Given the description of an element on the screen output the (x, y) to click on. 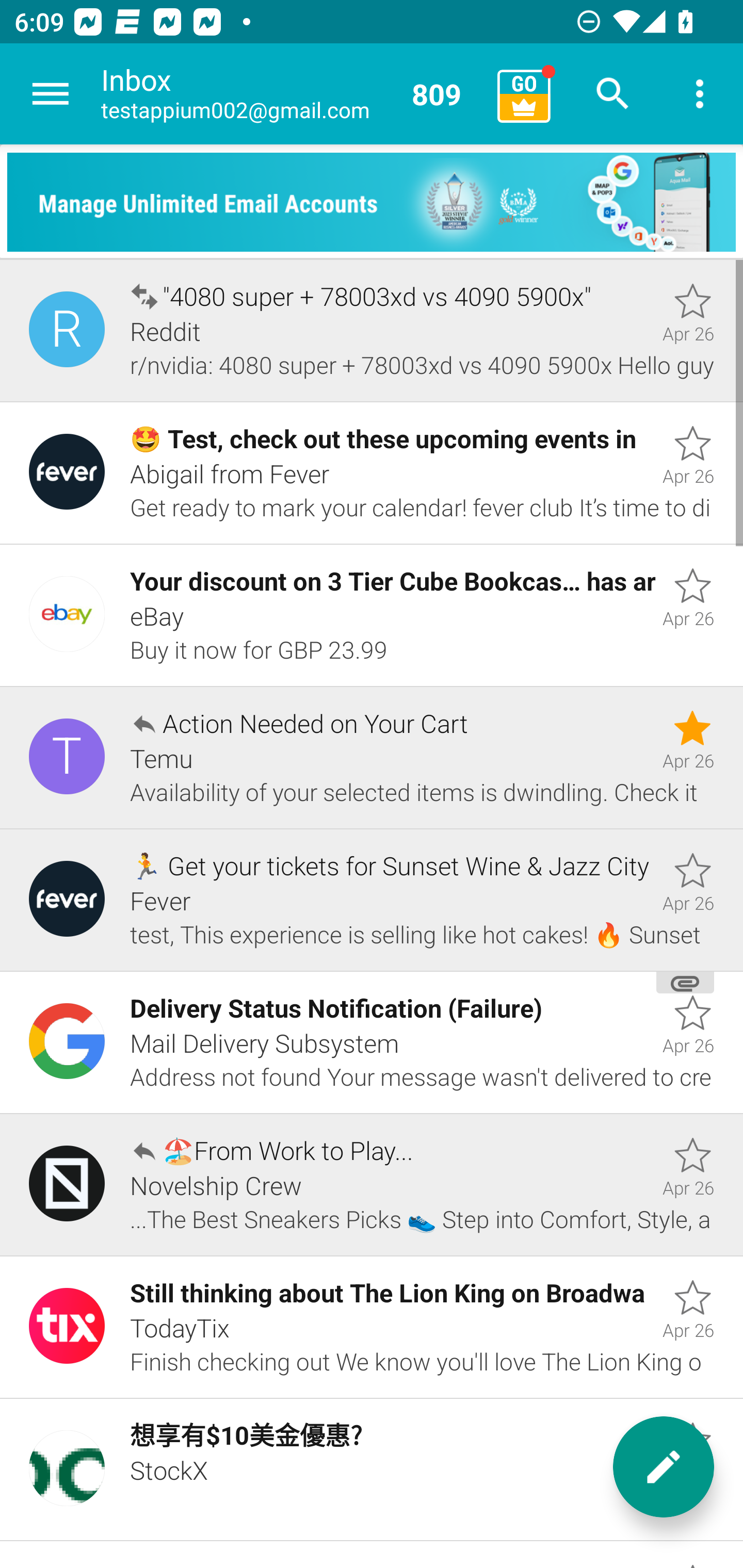
Navigate up (50, 93)
Inbox testappium002@gmail.com 809 (291, 93)
Search (612, 93)
More options (699, 93)
Unread, 想享有$10美金優惠?, StockX, Apr 26 (371, 1469)
New message (663, 1466)
